Given the description of an element on the screen output the (x, y) to click on. 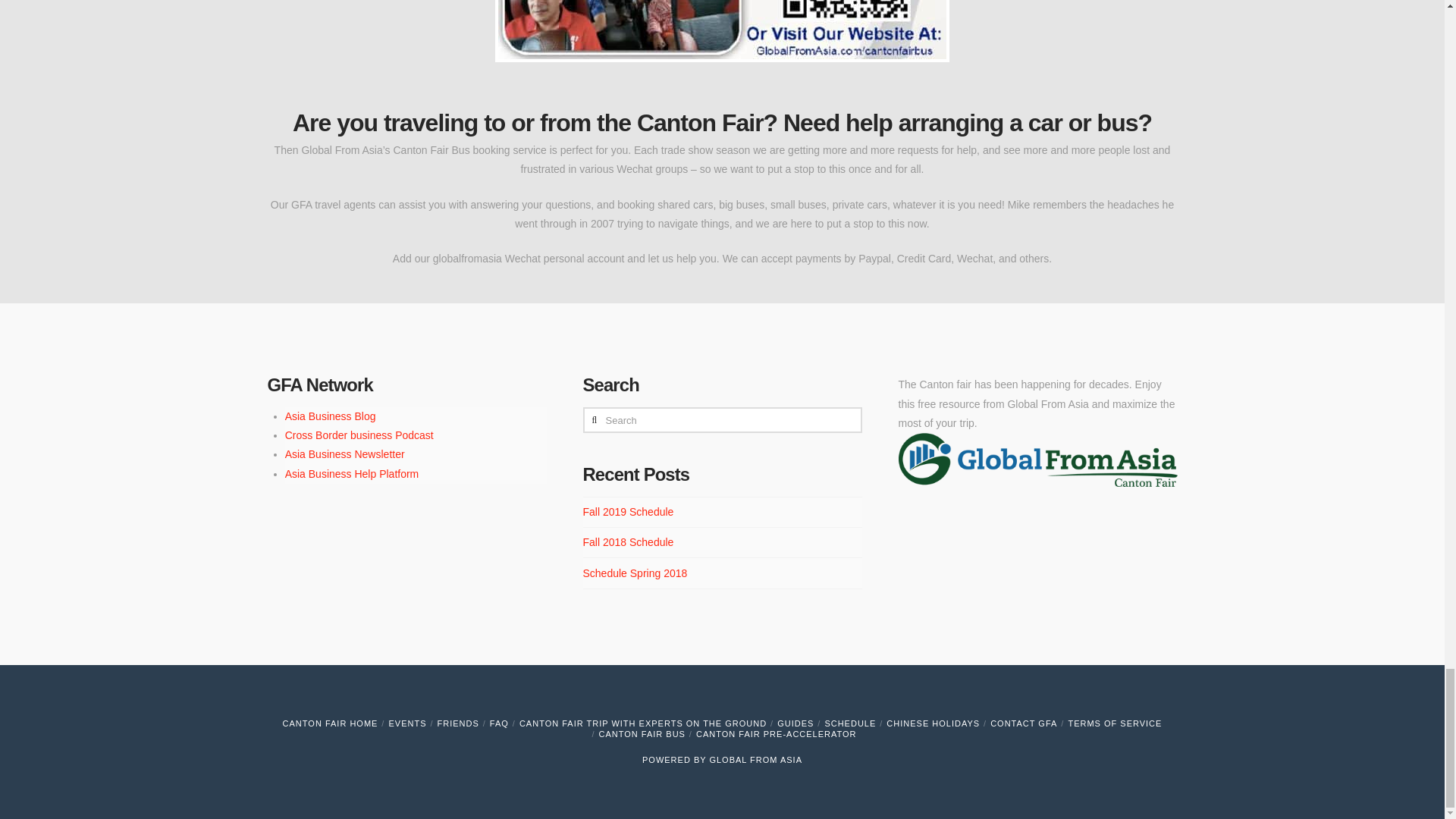
Asia Business Newsletter (344, 453)
Fall 2019 Schedule (627, 511)
EVENTS (407, 723)
Schedule Spring 2018 (634, 573)
Asia Business Help Platform (352, 473)
CANTON FAIR HOME (330, 723)
GFA (755, 759)
Asia Business Blog (330, 416)
Fall 2018 Schedule (627, 541)
FRIENDS (458, 723)
Cross Border business Podcast (359, 435)
